Given the description of an element on the screen output the (x, y) to click on. 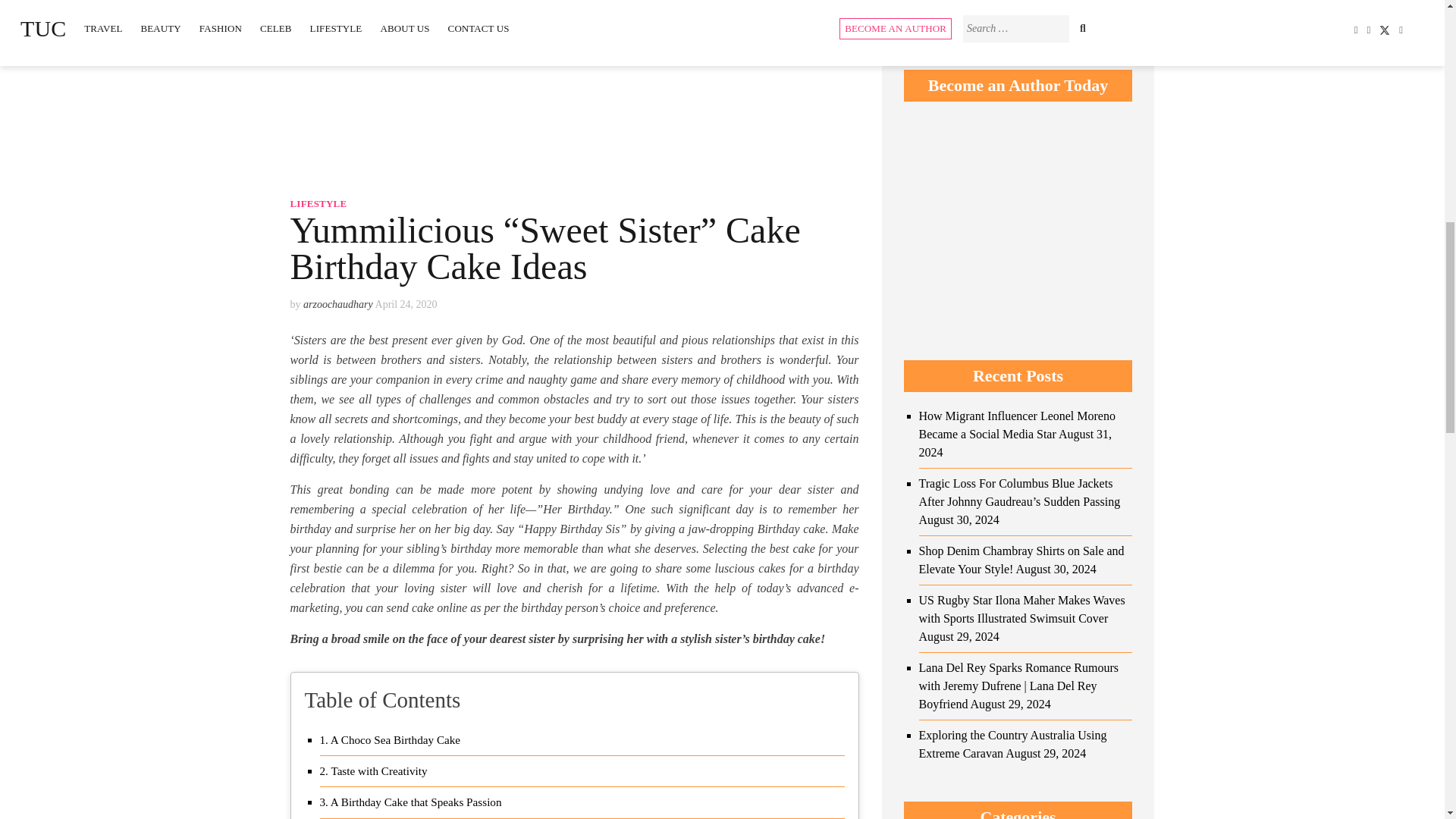
LIFESTYLE (317, 203)
3. A Birthday Cake that Speaks Passion (411, 802)
1. A Choco Sea Birthday Cake (390, 740)
1. A Choco Sea Birthday Cake (390, 740)
Exploring the Country Australia Using Extreme Caravan (1012, 323)
2. Taste with Creativity  (375, 771)
arzoochaudhary (337, 304)
3. A Birthday Cake that Speaks Passion (411, 802)
